Given the description of an element on the screen output the (x, y) to click on. 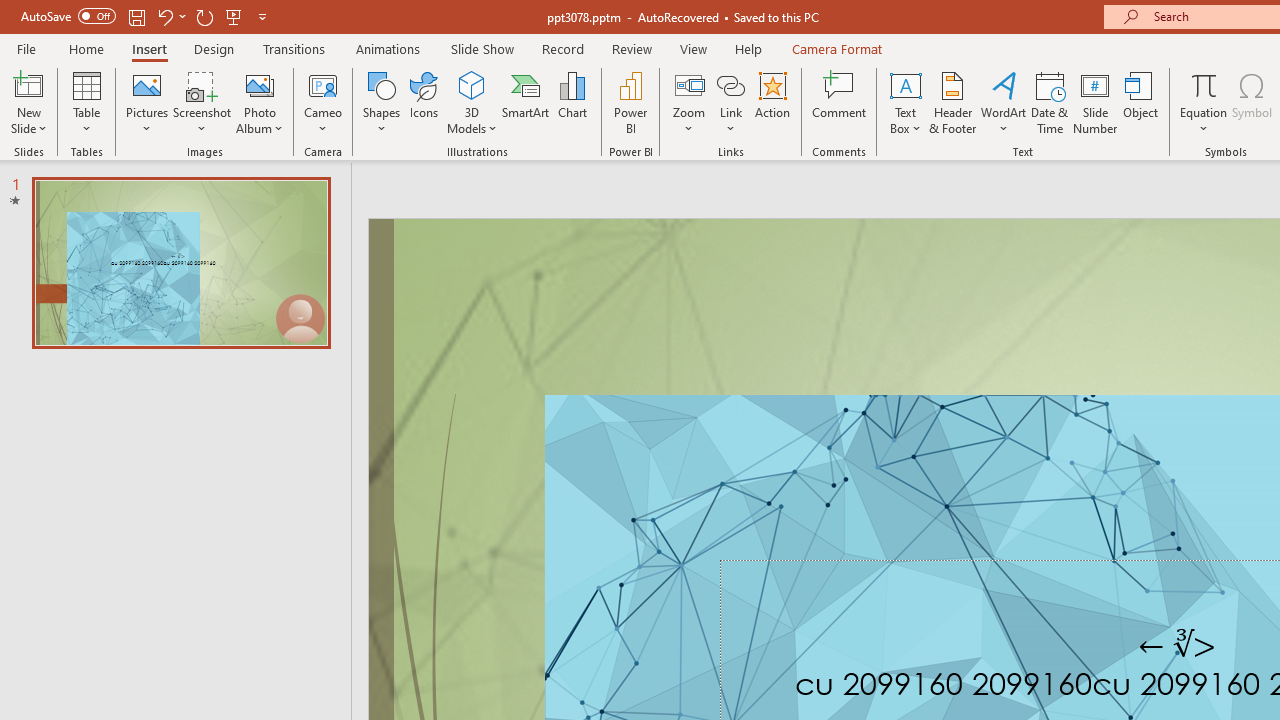
Pictures (147, 102)
Cameo (323, 84)
Action (772, 102)
Table (86, 102)
